Given the description of an element on the screen output the (x, y) to click on. 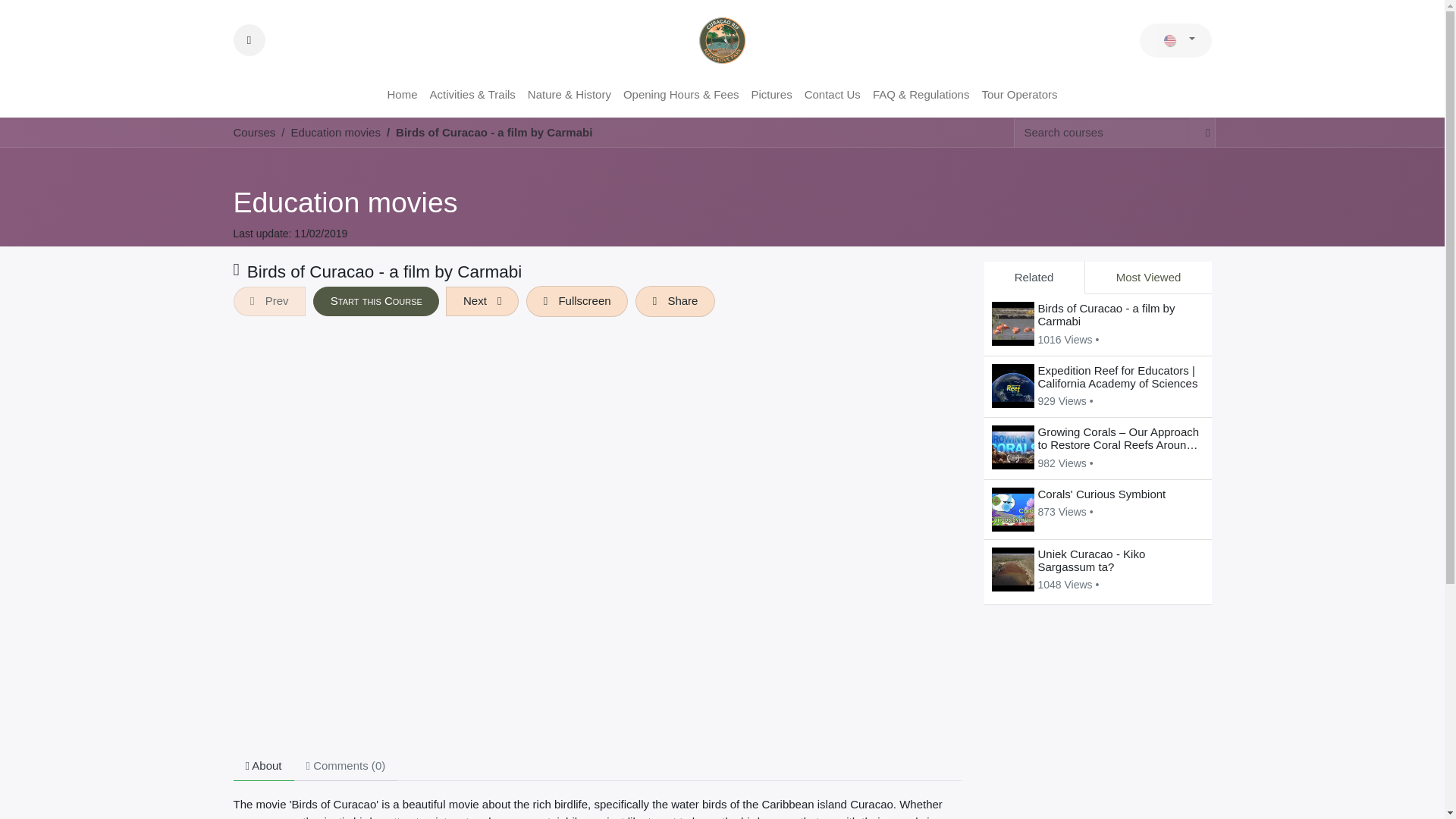
Courses (254, 132)
Pictures (770, 94)
Curacao Rif Mangrove Park (721, 40)
Tour Operators (1018, 94)
Education movies (335, 132)
Birds of Curacao - a film by Carmabi (494, 132)
Home (401, 94)
Contact Us (831, 94)
Search (248, 40)
Birds of Curacao - a film by Carmabi (494, 132)
Start Course (376, 301)
Courses (254, 132)
Education movies (335, 132)
